Given the description of an element on the screen output the (x, y) to click on. 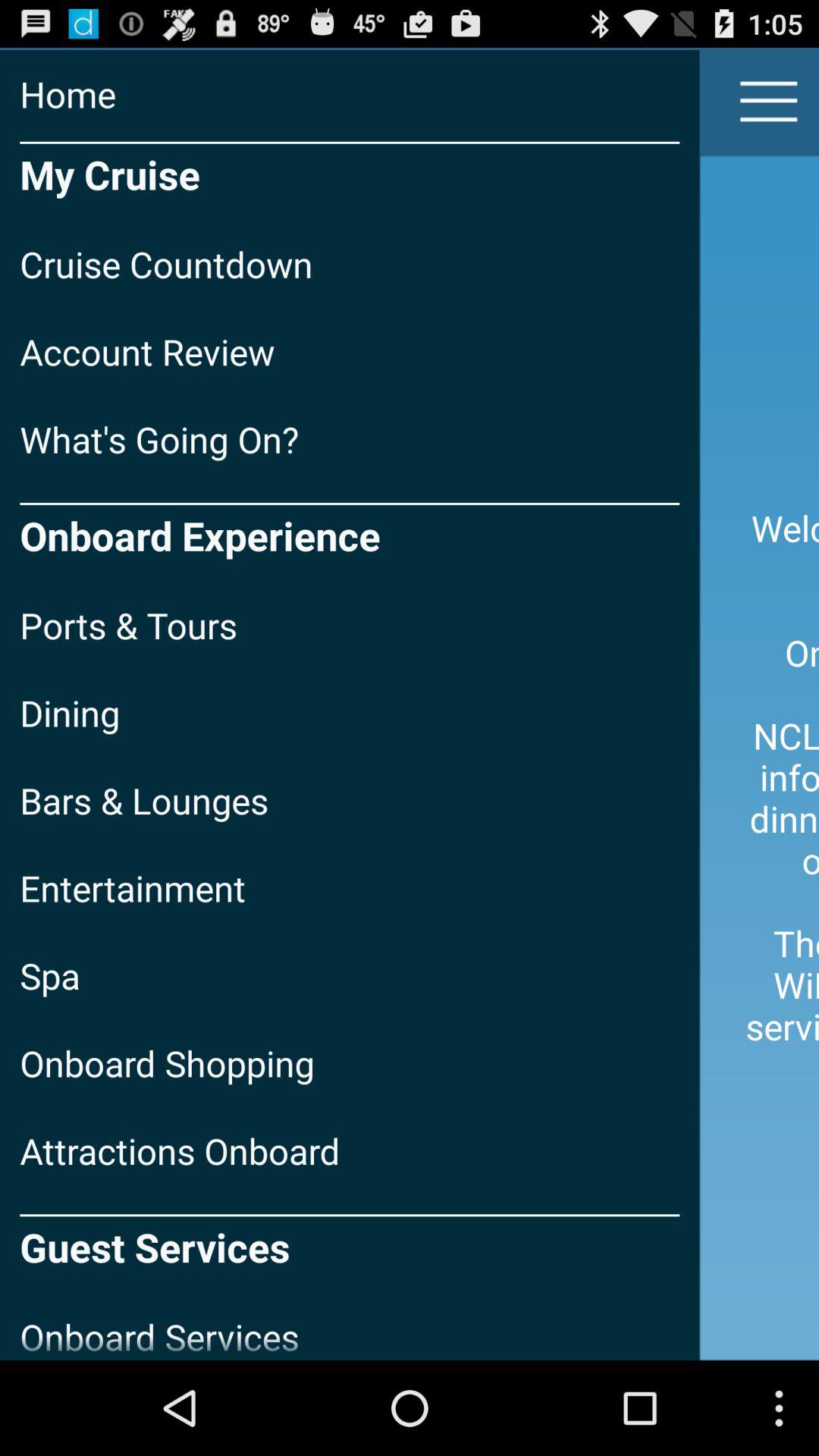
select home item (349, 93)
